Given the description of an element on the screen output the (x, y) to click on. 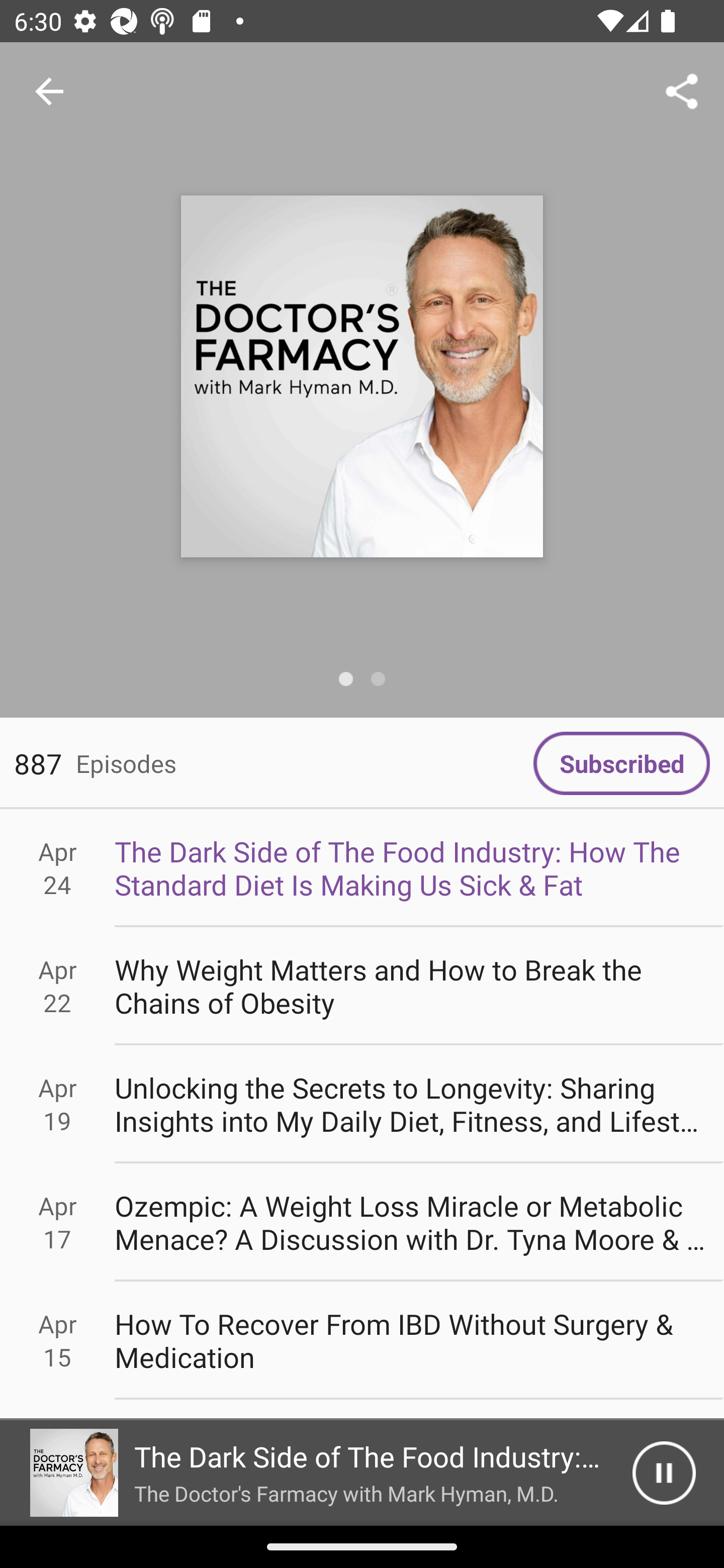
Navigate up (49, 91)
Share... (681, 90)
Subscribed (621, 763)
Pause (663, 1472)
